Given the description of an element on the screen output the (x, y) to click on. 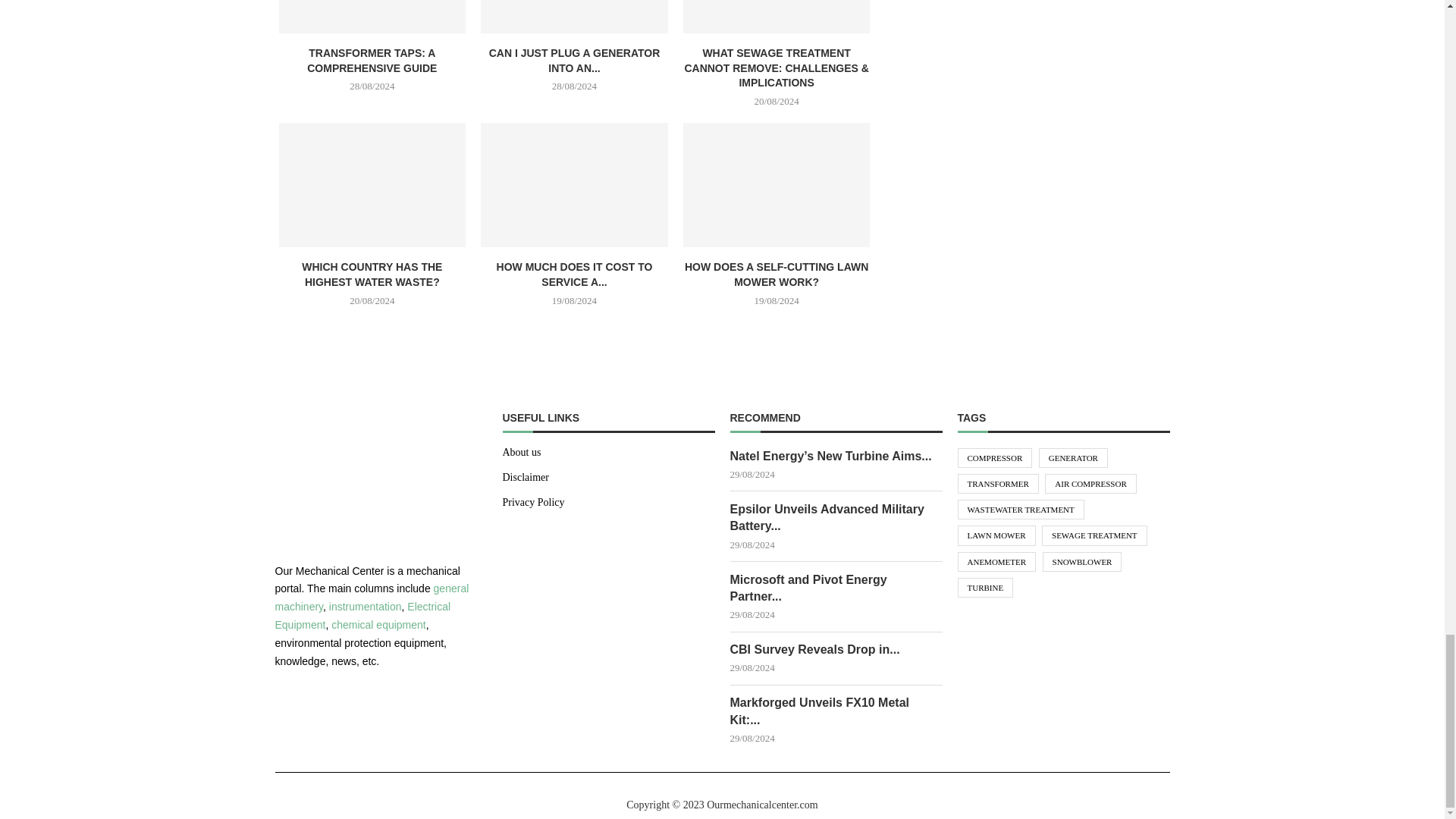
How Much Does It Cost to Service a Lawn Mower Near Me? (574, 184)
How Does a Self-Cutting Lawn Mower Work? (776, 184)
Transformer Taps: A Comprehensive Guide (372, 16)
Which Country Has the Highest Water Waste? (372, 184)
